Given the description of an element on the screen output the (x, y) to click on. 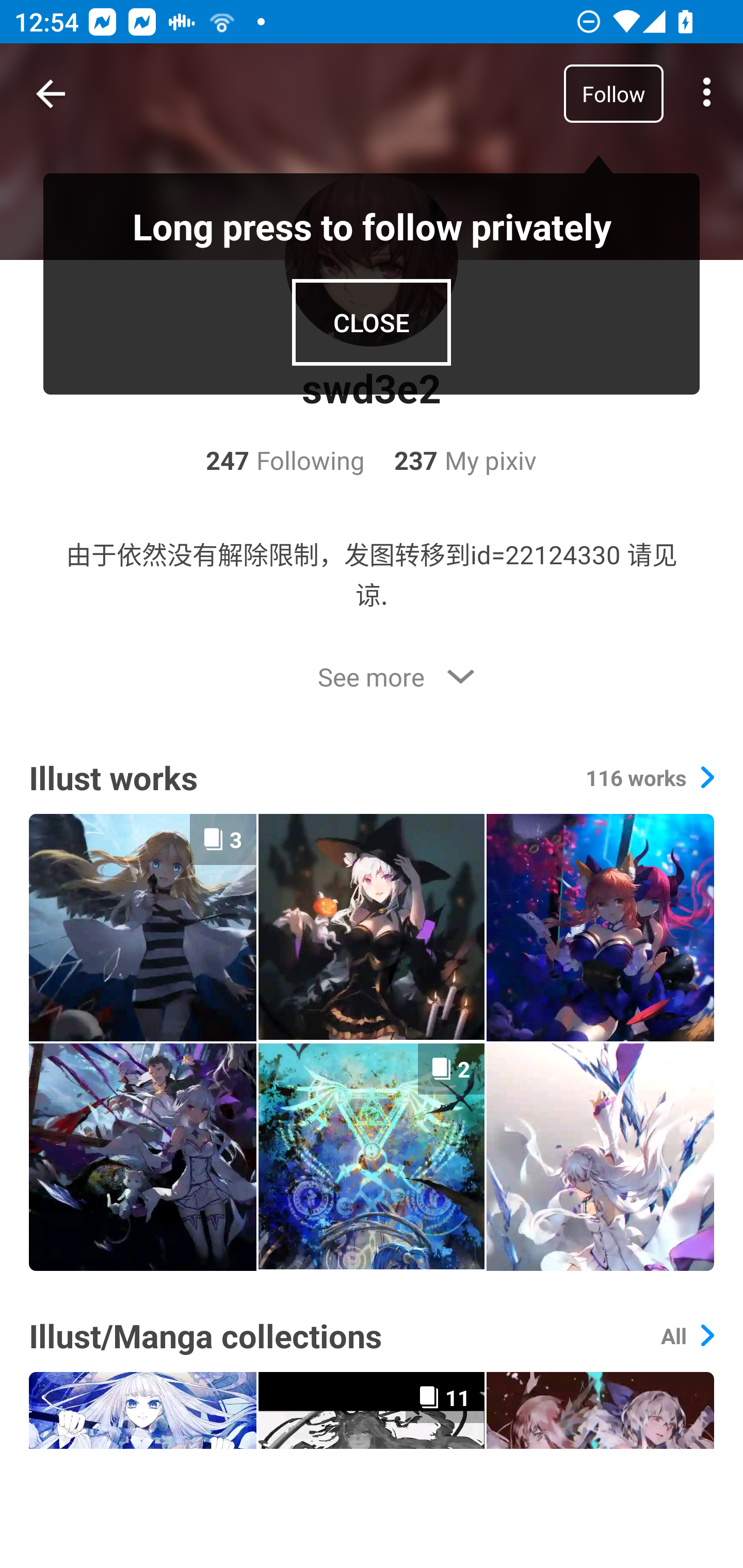
Navigate up (50, 93)
More options (706, 93)
Follow (613, 93)
CLOSE (371, 322)
247 Following (285, 459)
237 My pixiv (450, 459)
See more (371, 677)
116 works (649, 777)
3 (142, 927)
2 (371, 1156)
All (687, 1335)
